Given the description of an element on the screen output the (x, y) to click on. 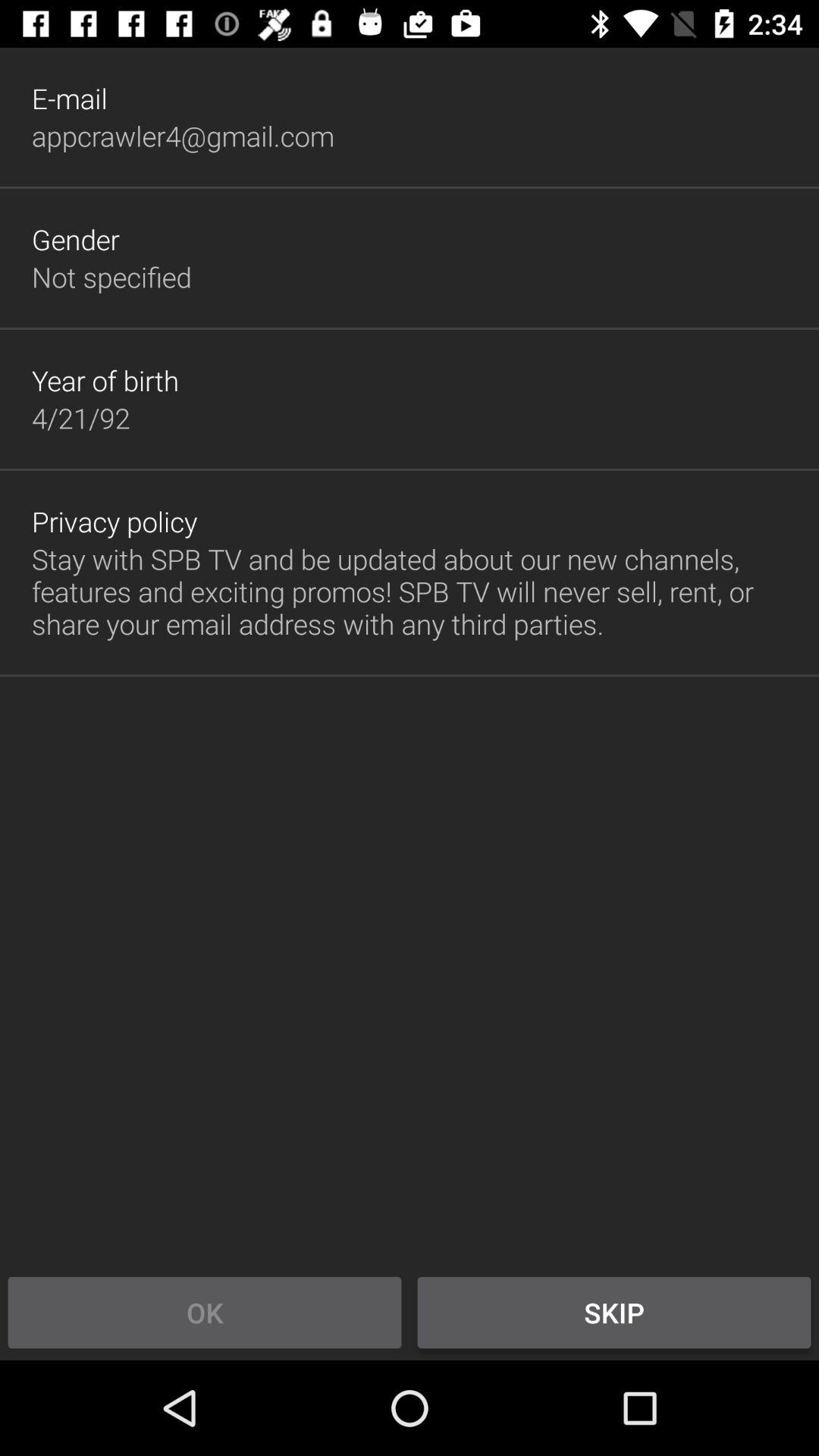
select privacy policy (114, 521)
